Given the description of an element on the screen output the (x, y) to click on. 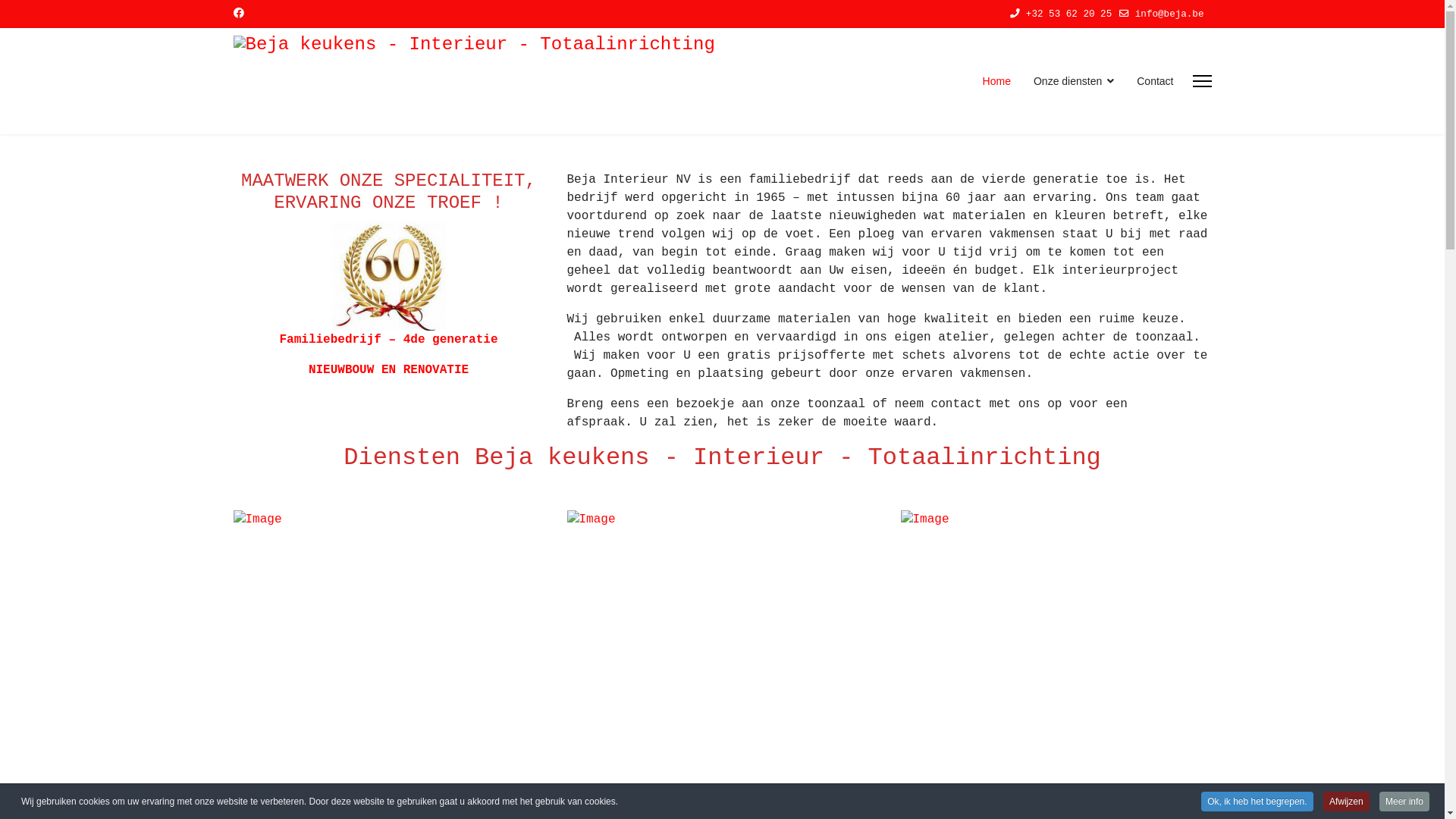
Contact Element type: text (1149, 81)
Afwijzen Element type: text (1346, 801)
MAATWERK ONZE SPECIALITEIT, ERVARING ONZE TROEF ! Element type: hover (388, 275)
Menu Element type: hover (1201, 81)
Ok, ik heb het begrepen. Element type: text (1256, 801)
+32 53 62 20 25 Element type: text (1068, 14)
Meer info Element type: text (1404, 801)
Onze diensten Element type: text (1073, 81)
info@beja.be Element type: text (1169, 14)
Home Element type: text (996, 81)
